Given the description of an element on the screen output the (x, y) to click on. 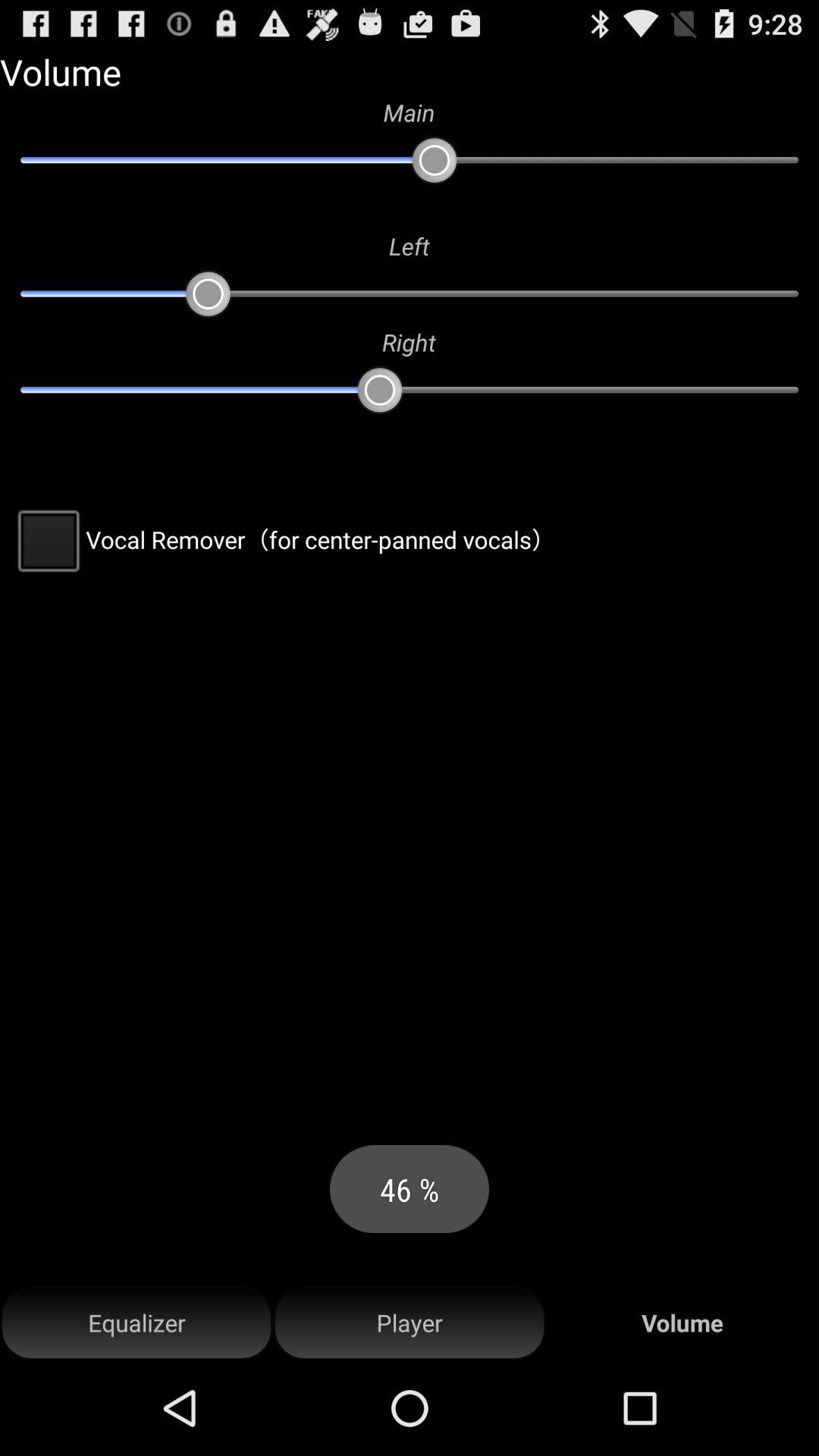
turn off the checkbox below vocal remover for icon (136, 1323)
